Given the description of an element on the screen output the (x, y) to click on. 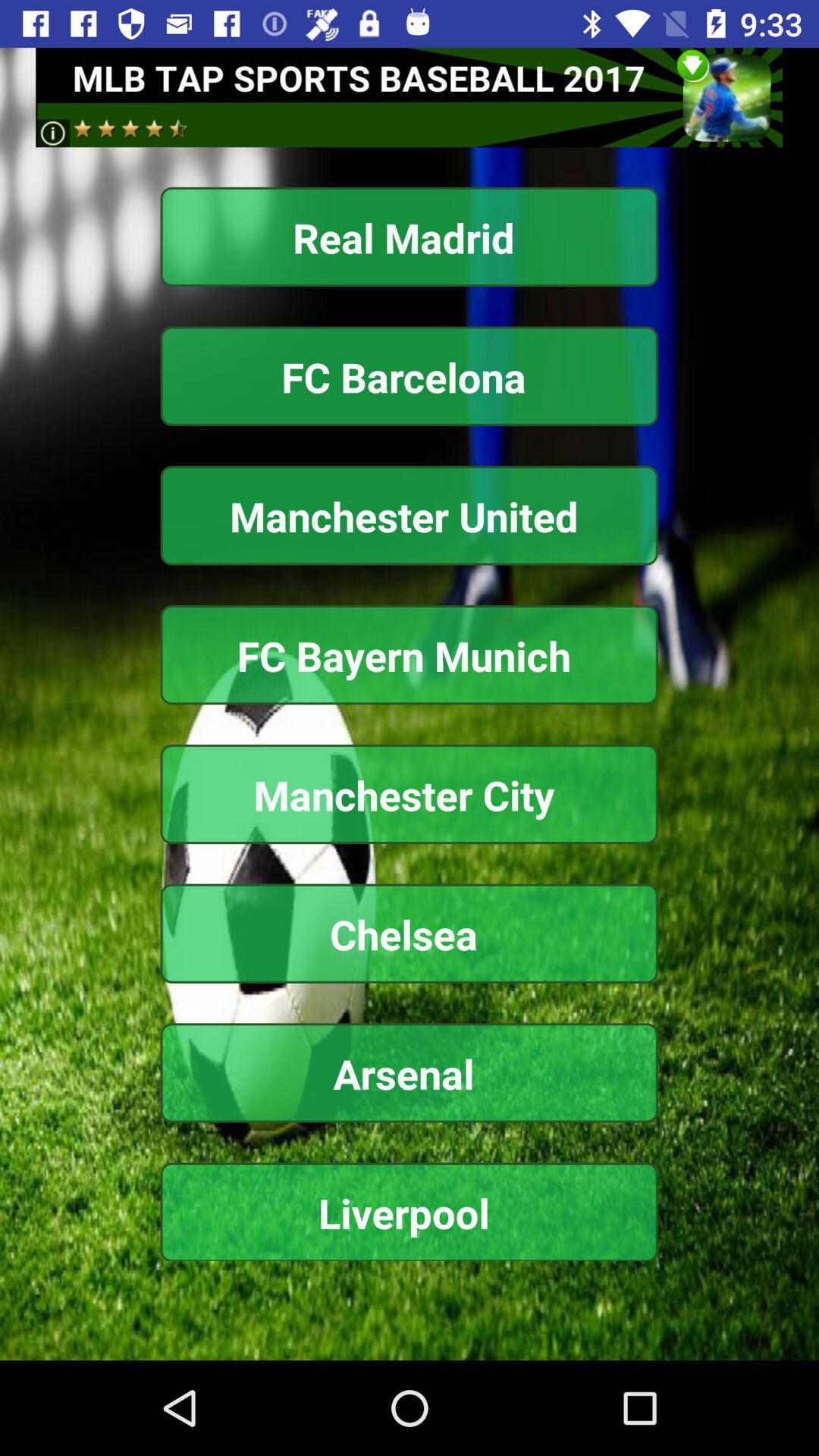
advertisement (408, 97)
